Given the description of an element on the screen output the (x, y) to click on. 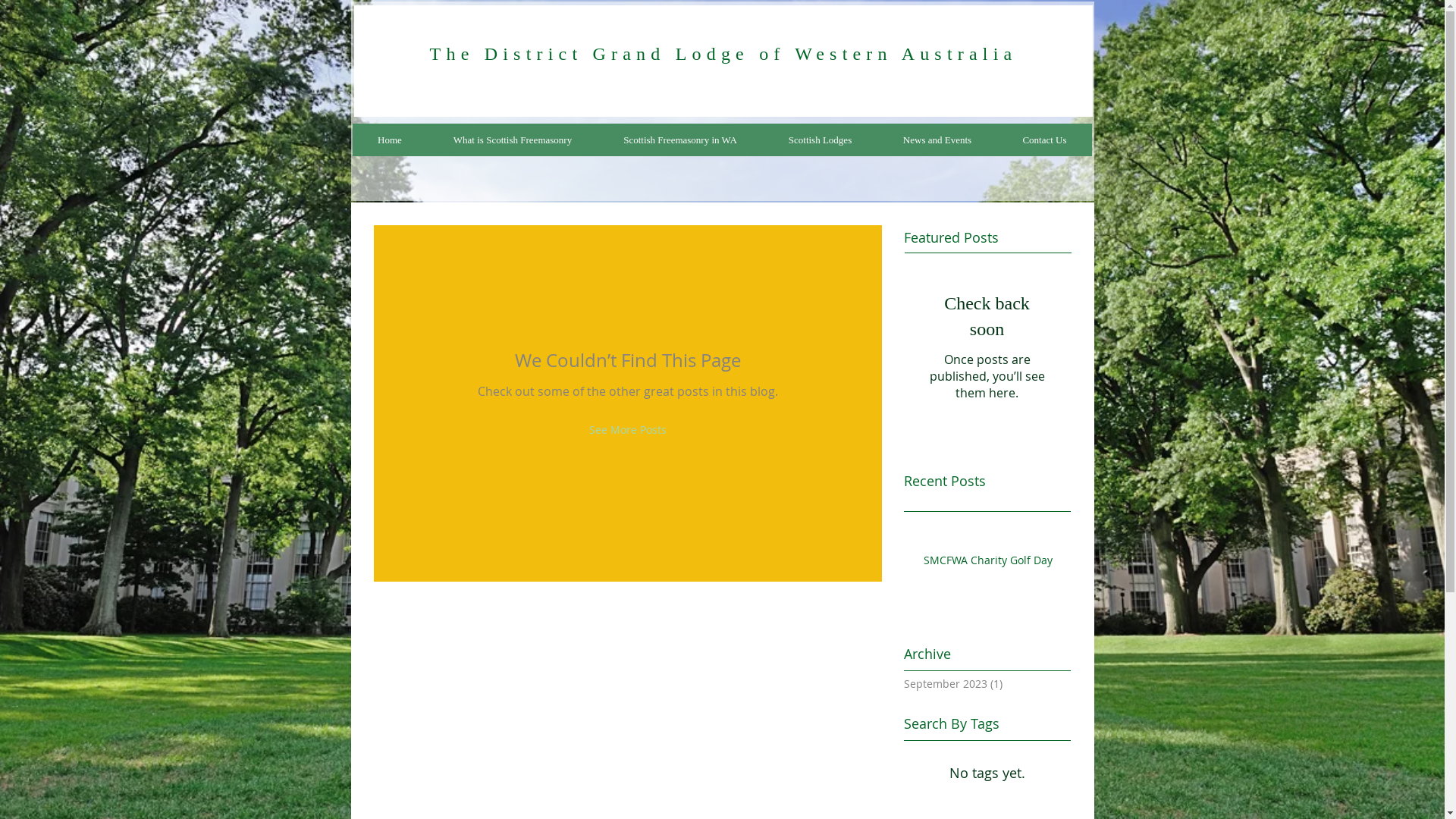
Scottish Freemasonry in WA Element type: text (679, 139)
Home Element type: text (388, 139)
SMCFWA Charity Golf Day Element type: text (992, 563)
September 2023 (1) Element type: text (983, 683)
News and Events Element type: text (936, 139)
See More Posts Element type: text (627, 429)
Scottish Lodges Element type: text (819, 139)
What is Scottish Freemasonry Element type: text (512, 139)
Contact Us Element type: text (1043, 139)
